Given the description of an element on the screen output the (x, y) to click on. 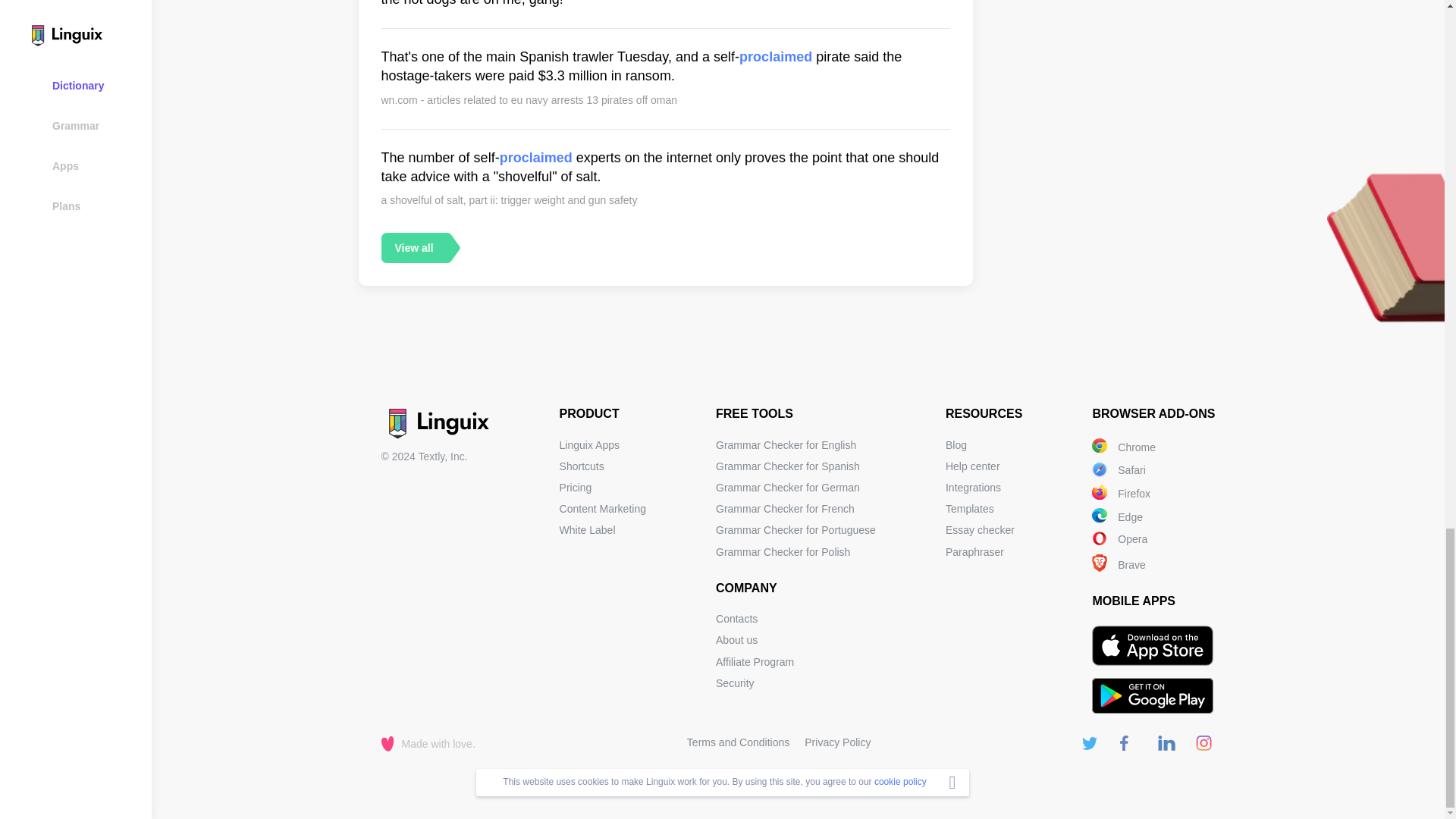
Paraphraser (974, 551)
Grammar Checker for Spanish (788, 466)
Grammar Checker for Portuguese (796, 530)
Grammar Checker for Polish (783, 551)
Essay checker (979, 530)
Grammar Checker for German (788, 487)
Shortcuts (581, 466)
Grammar Checker for English (786, 444)
View all (413, 247)
Grammar Checker for French (785, 508)
